Given the description of an element on the screen output the (x, y) to click on. 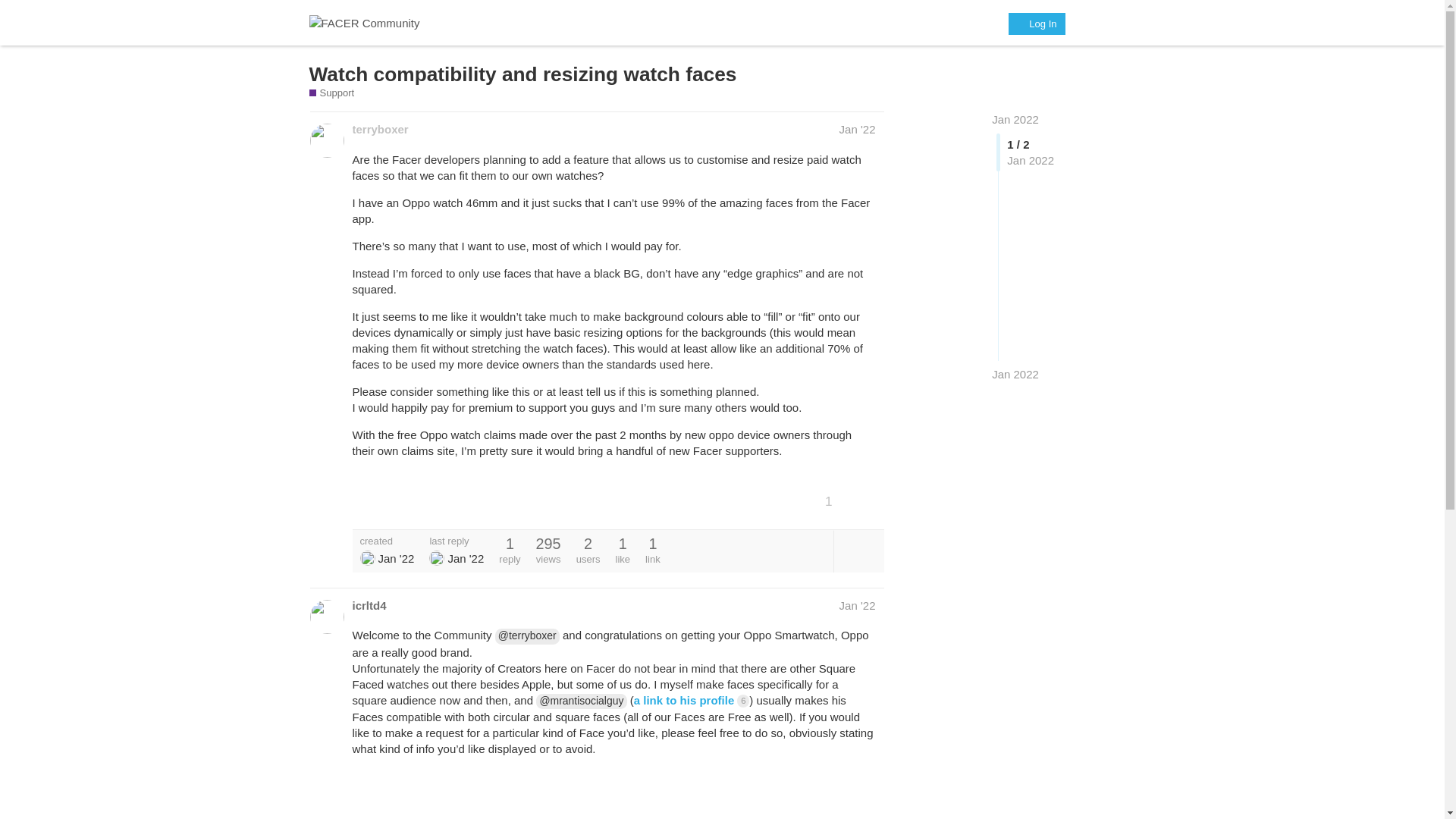
share a link to this post (869, 501)
Jan '22 (858, 128)
Jan 2022 (1015, 119)
Jan 23, 2022 7:54 pm (464, 558)
Jan '22 (858, 604)
1 (833, 501)
a link to his profile 6 (691, 699)
last reply (456, 541)
menu (1119, 22)
Support (331, 92)
Jan 2022 (1015, 119)
Jan 23, 2022 7:54 pm (1015, 373)
expand topic details (857, 550)
1 person liked this post (833, 501)
